Given the description of an element on the screen output the (x, y) to click on. 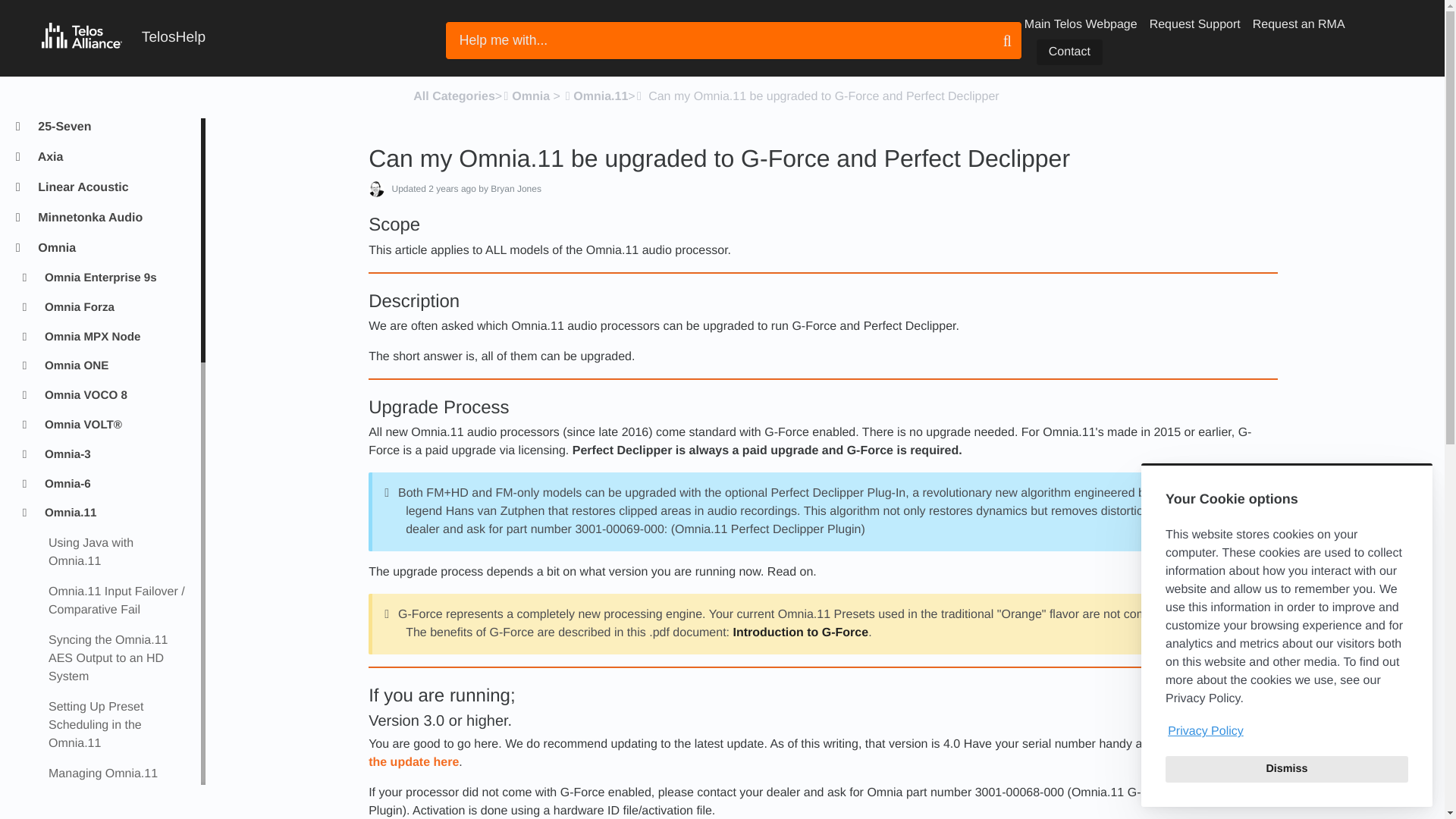
Privacy Policy (1286, 731)
Request an RMA (1298, 24)
Contact (1069, 52)
Request Support (1195, 24)
Main Telos Webpage (1081, 24)
Dismiss (1286, 768)
TelosHelp (123, 37)
25-Seven (112, 126)
